Given the description of an element on the screen output the (x, y) to click on. 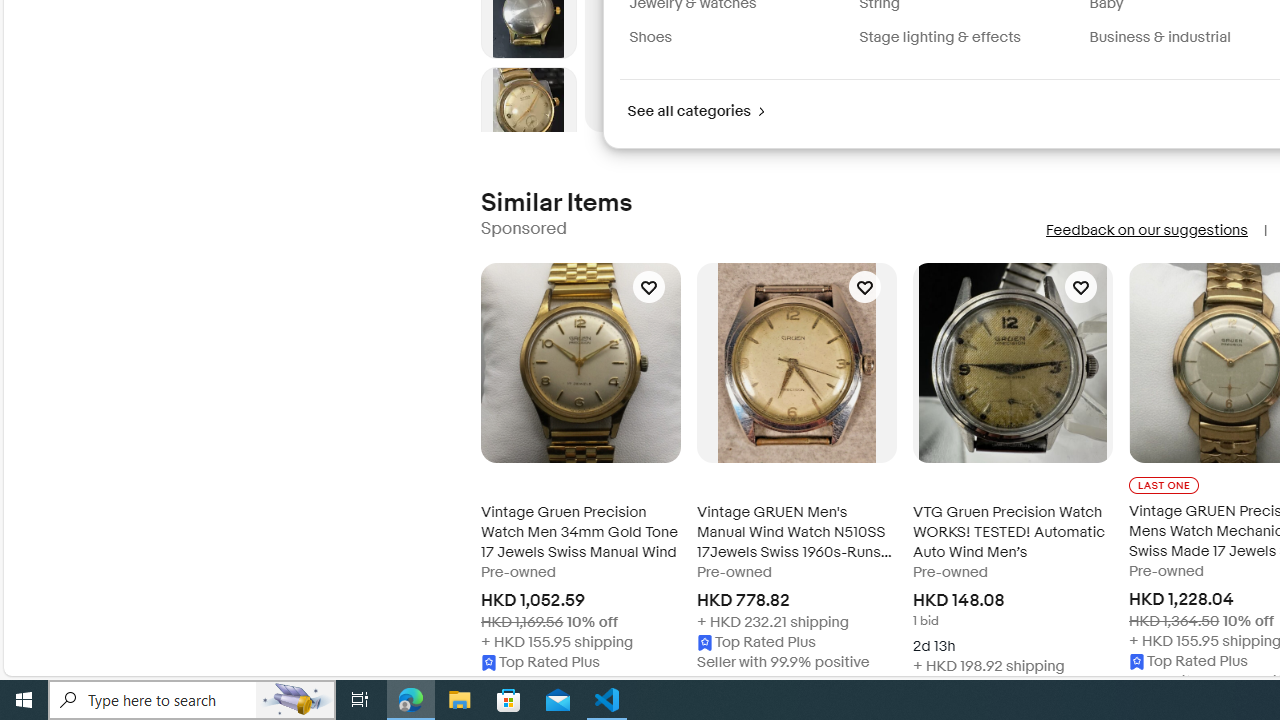
Stage lighting & effects (940, 37)
